Given the description of an element on the screen output the (x, y) to click on. 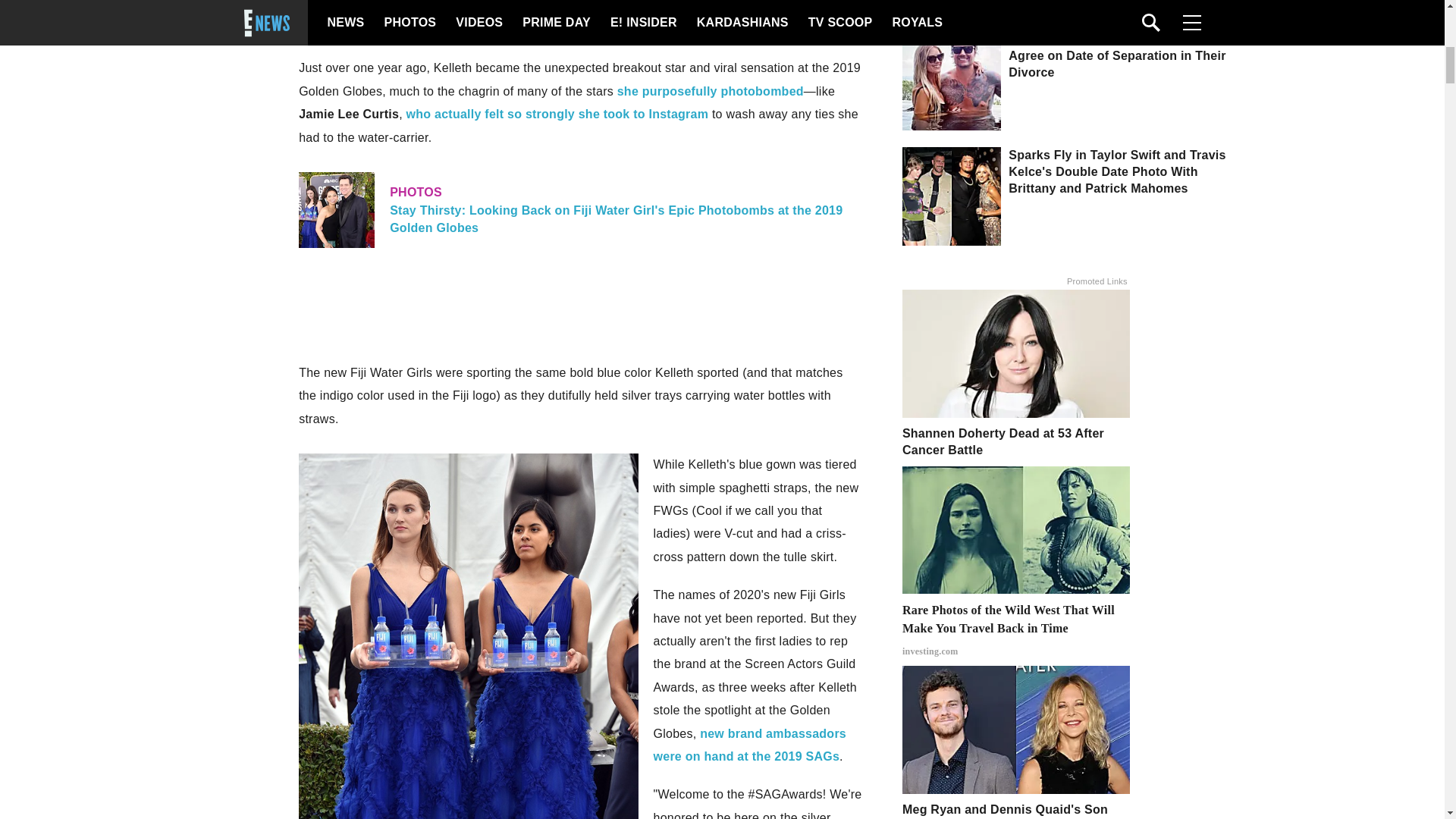
who actually felt so strongly she took to Instagram (557, 113)
new brand ambassadors were on hand at the 2019 SAGs (749, 744)
she purposefully photobombed (710, 91)
